Given the description of an element on the screen output the (x, y) to click on. 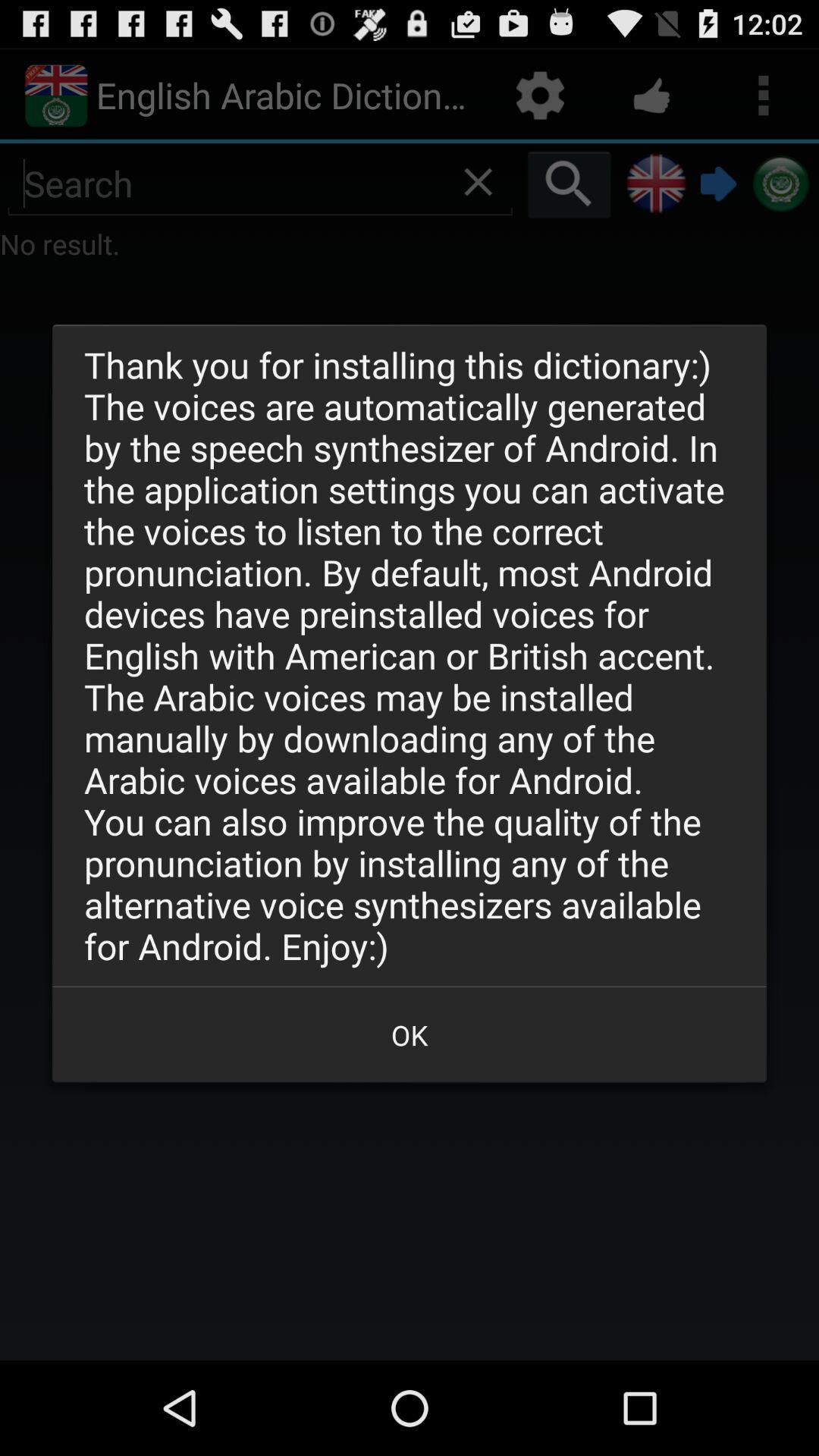
click ok (409, 1034)
